Given the description of an element on the screen output the (x, y) to click on. 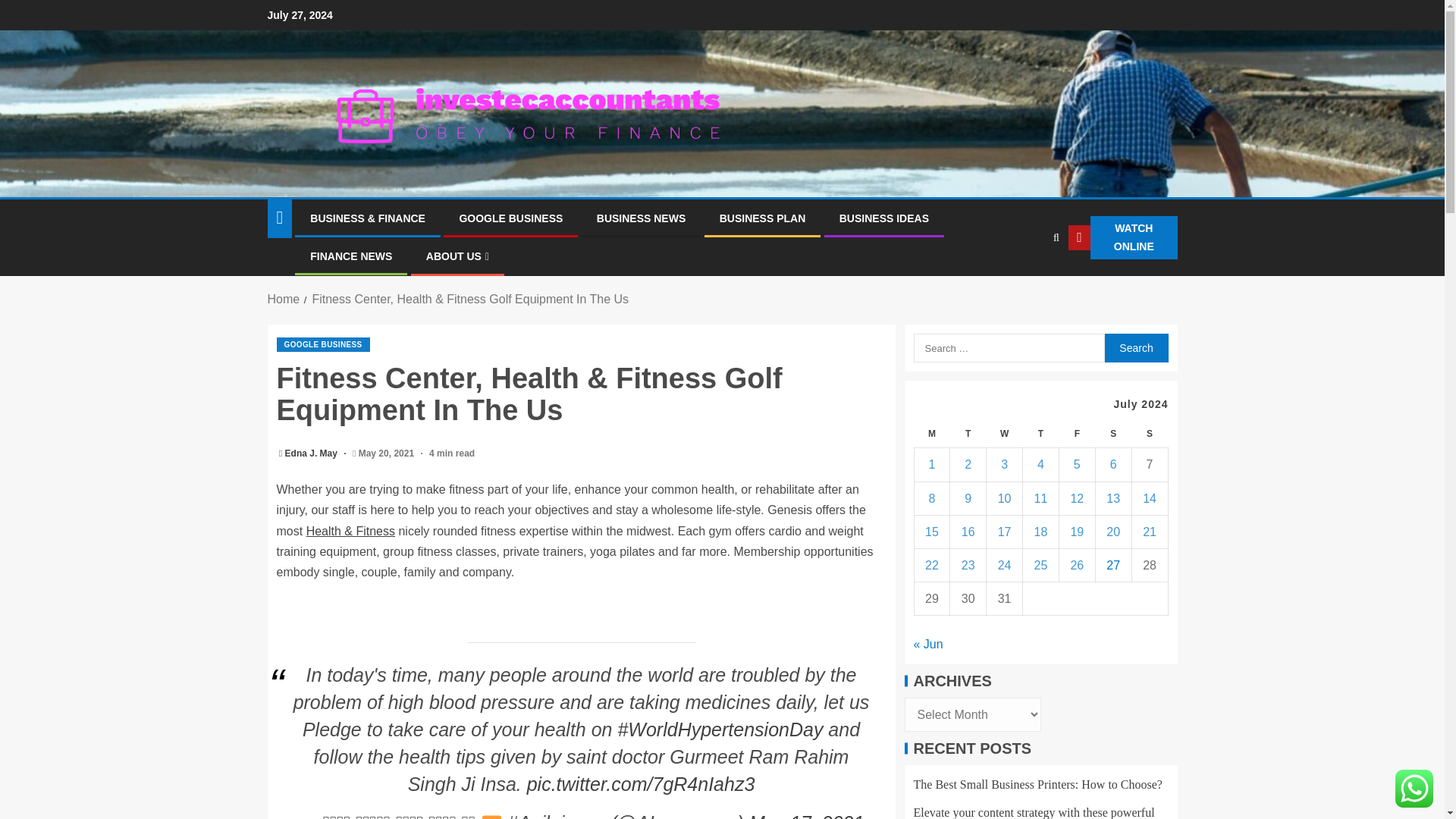
Home (282, 298)
Search (1135, 347)
WATCH ONLINE (1122, 238)
Thursday (1041, 433)
Monday (932, 433)
May 17, 2021 (806, 815)
FINANCE NEWS (350, 256)
Friday (1076, 433)
BUSINESS PLAN (762, 218)
GOOGLE BUSINESS (510, 218)
Search (1025, 284)
BUSINESS NEWS (640, 218)
BUSINESS IDEAS (884, 218)
ABOUT US (457, 256)
Search (1135, 347)
